Given the description of an element on the screen output the (x, y) to click on. 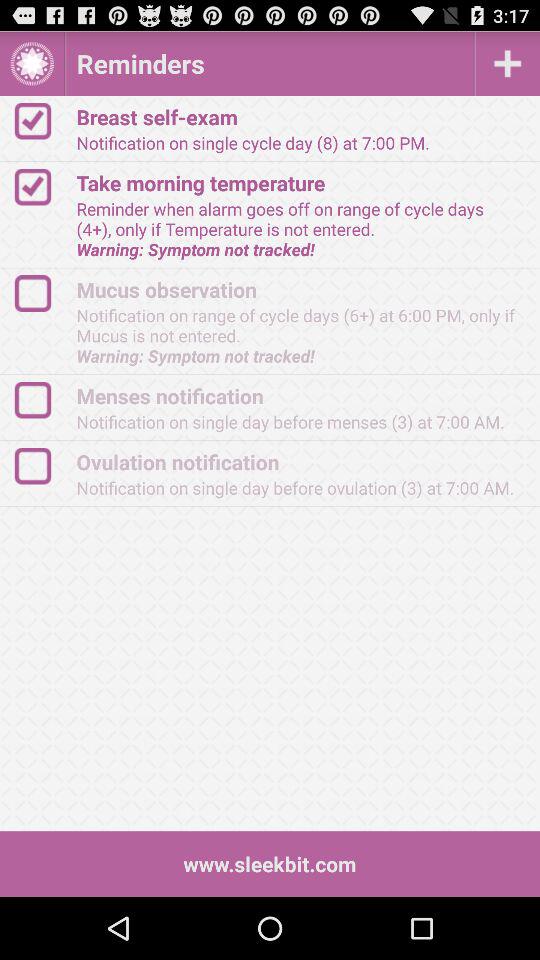
put tick (41, 293)
